Given the description of an element on the screen output the (x, y) to click on. 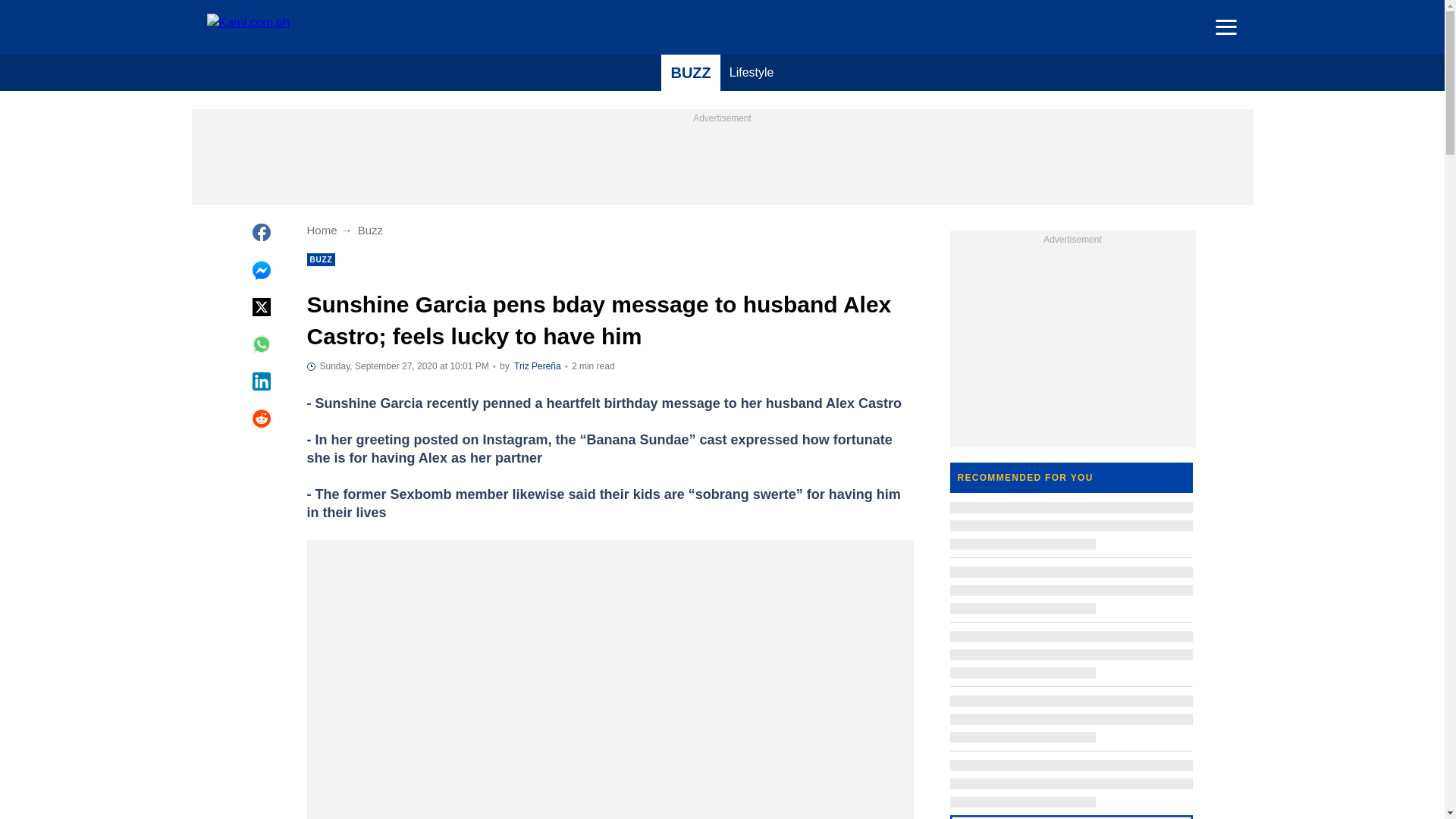
Lifestyle (751, 72)
BUZZ (690, 72)
Author page (536, 366)
